Given the description of an element on the screen output the (x, y) to click on. 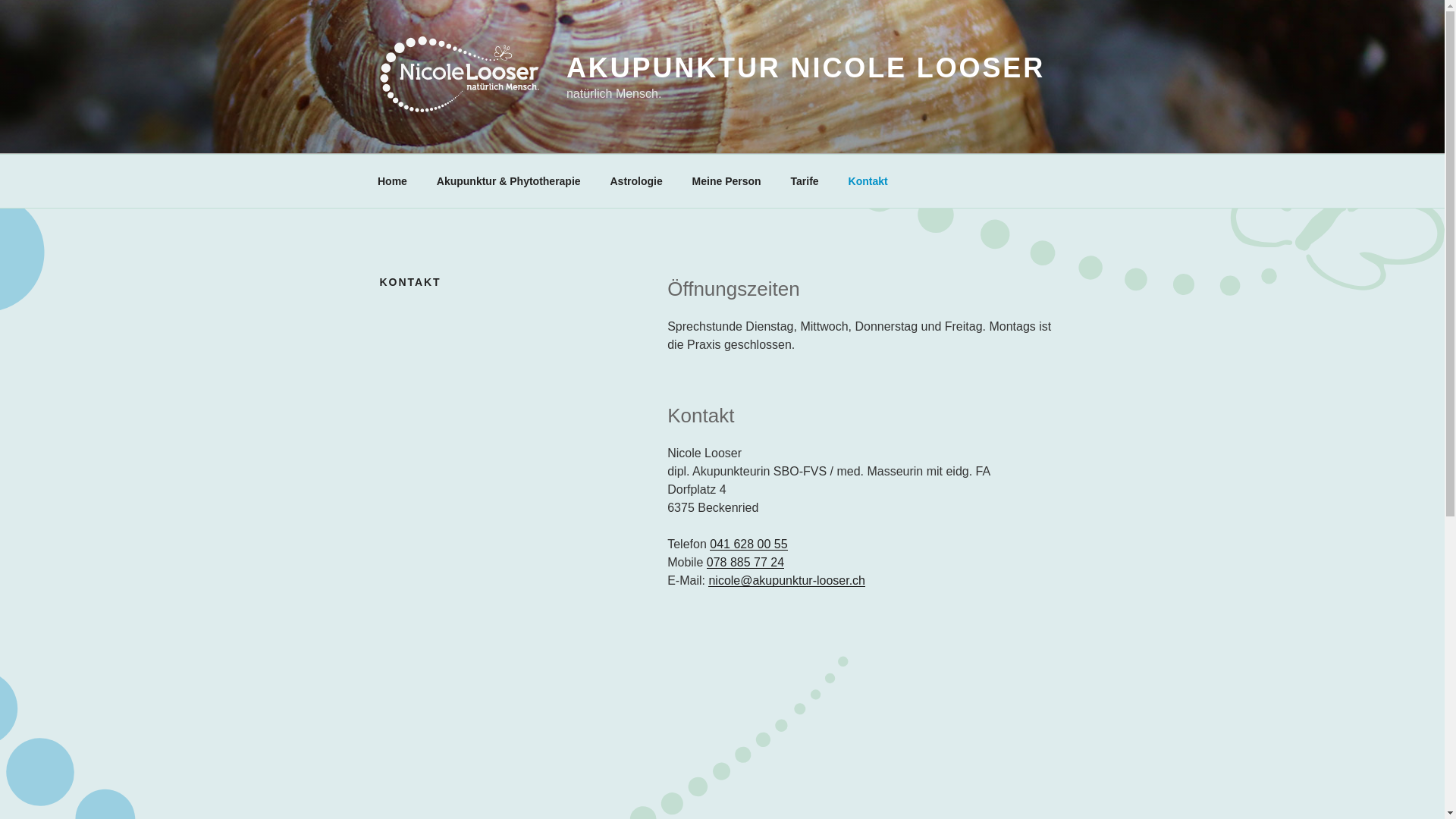
041 628 00 55 Element type: text (748, 543)
nicole@akupunktur-looser.ch Element type: text (786, 580)
Astrologie Element type: text (635, 180)
Meine Person Element type: text (726, 180)
078 885 77 24 Element type: text (745, 561)
Home Element type: text (392, 180)
Akupunktur & Phytotherapie Element type: text (508, 180)
AKUPUNKTUR NICOLE LOOSER Element type: text (805, 67)
Kontakt Element type: text (867, 180)
Tarife Element type: text (804, 180)
